Given the description of an element on the screen output the (x, y) to click on. 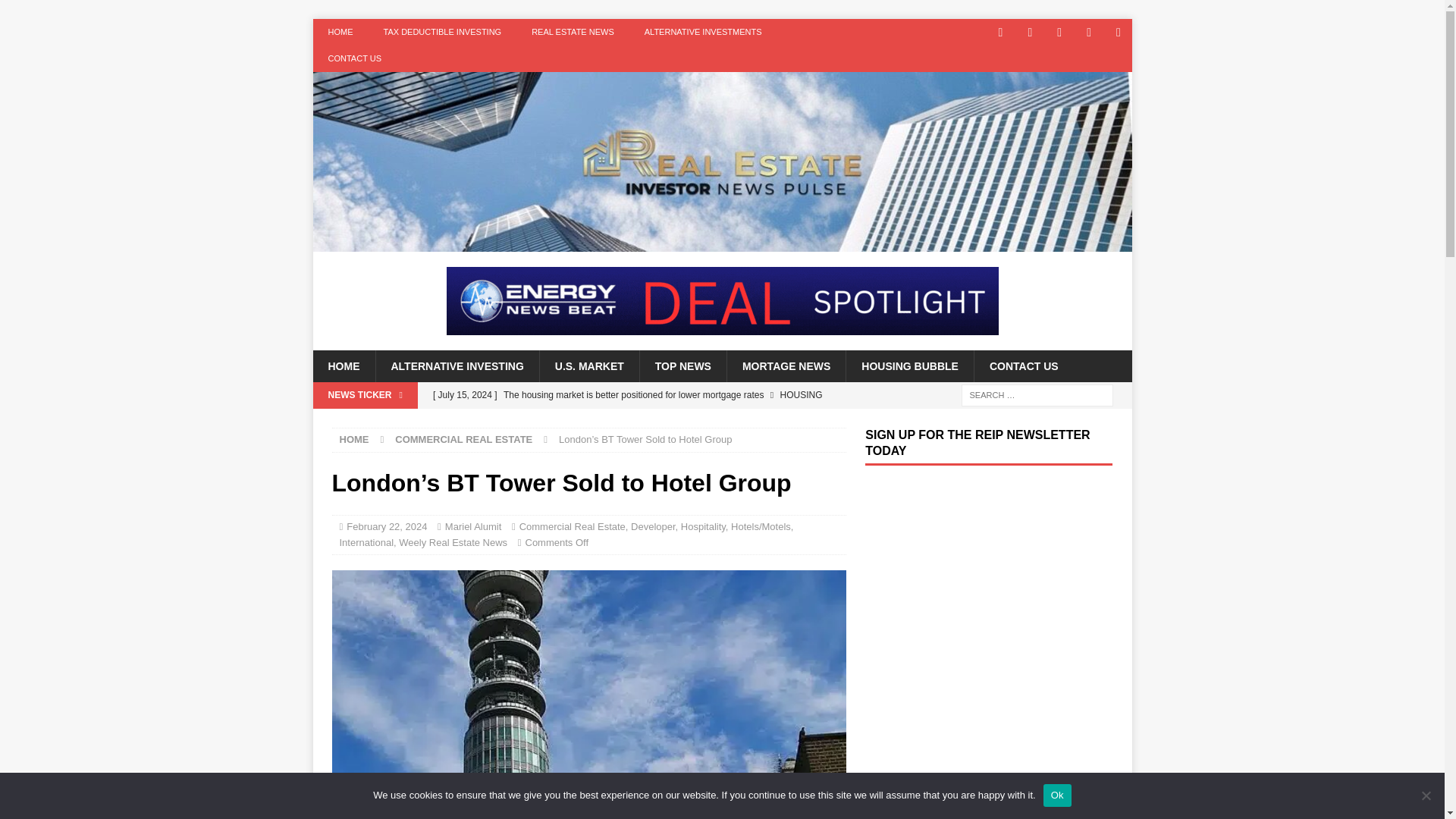
U.S. MARKET (588, 366)
HOME (340, 31)
Real Estate Investor Pulse (722, 243)
CONTACT US (1024, 366)
HOME (343, 366)
Search (56, 11)
HOME (354, 439)
ALTERNATIVE INVESTMENTS (702, 31)
MORTAGE NEWS (785, 366)
REAL ESTATE NEWS (572, 31)
HOUSING BUBBLE (909, 366)
TOP NEWS (682, 366)
TAX DEDUCTIBLE INVESTING (442, 31)
CONTACT US (354, 58)
